Given the description of an element on the screen output the (x, y) to click on. 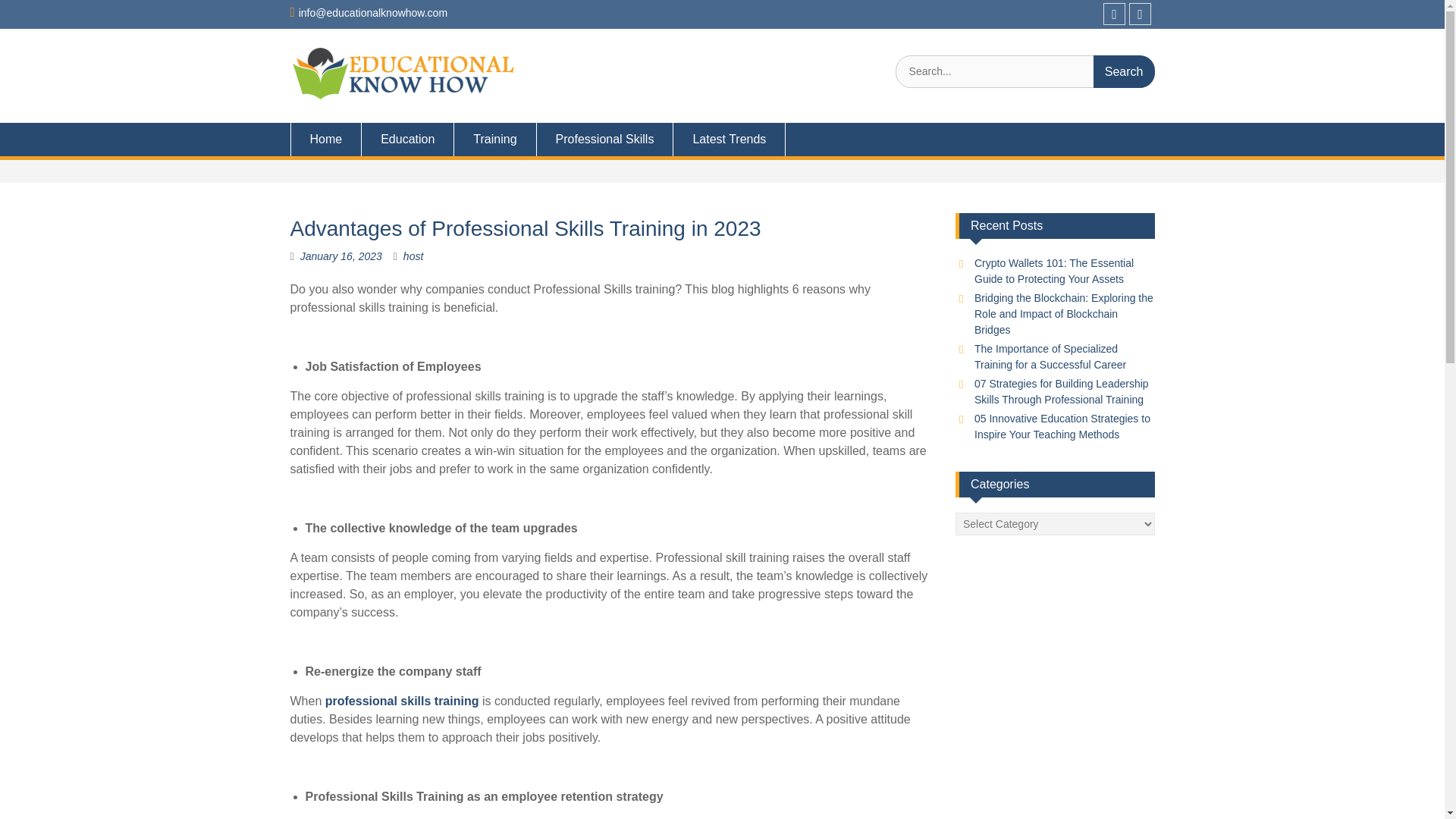
Search (1123, 71)
Education (407, 139)
Search (1123, 71)
host (413, 256)
Professional Skills (605, 139)
Search (1123, 71)
Latest Trends (729, 139)
